Given the description of an element on the screen output the (x, y) to click on. 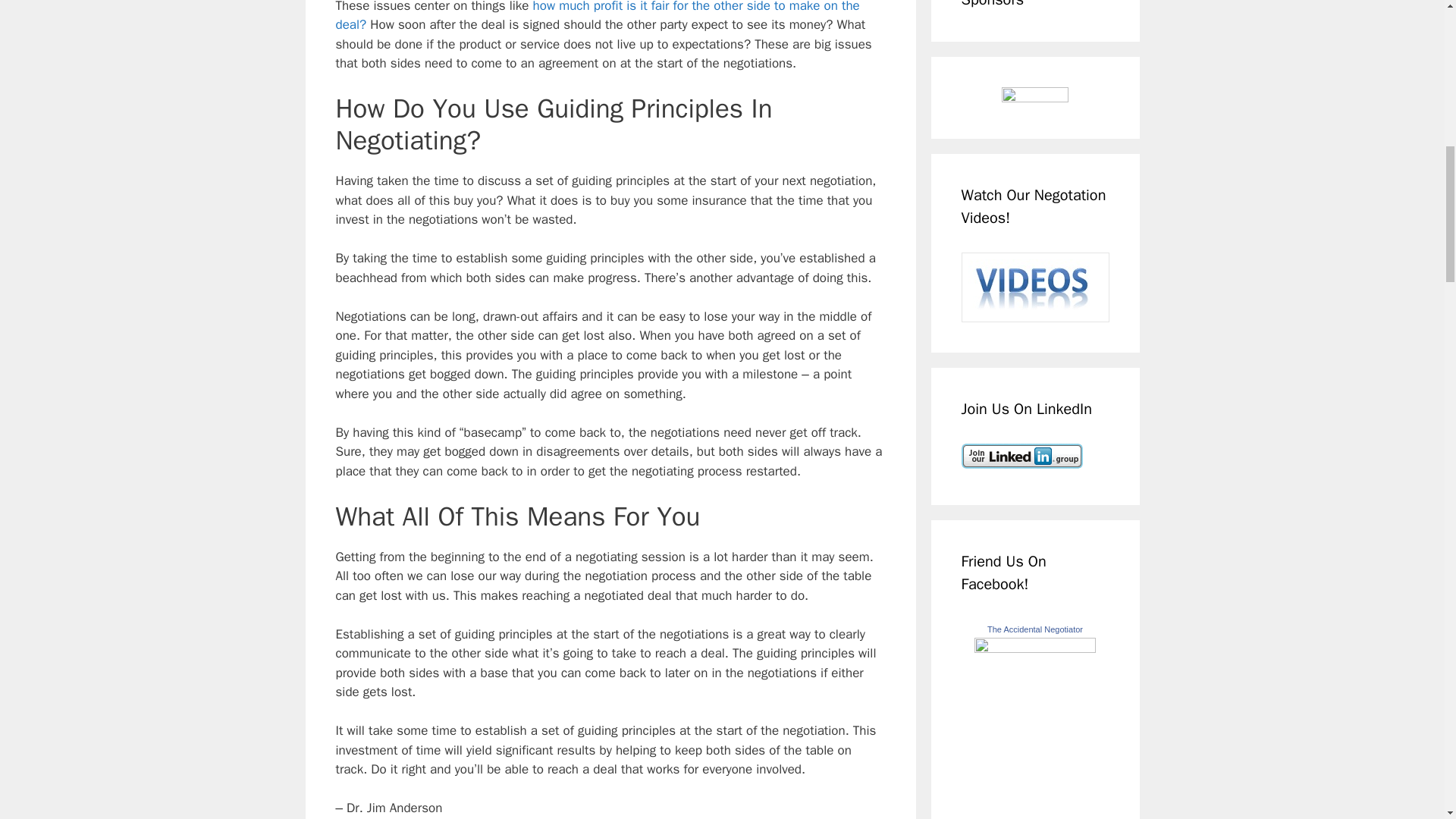
The Accidental Negotiator (1035, 648)
The Accidental Negotiator (1035, 628)
The Accidental Negotiator (1035, 628)
How much profit is fair for a business to make? (596, 16)
